Given the description of an element on the screen output the (x, y) to click on. 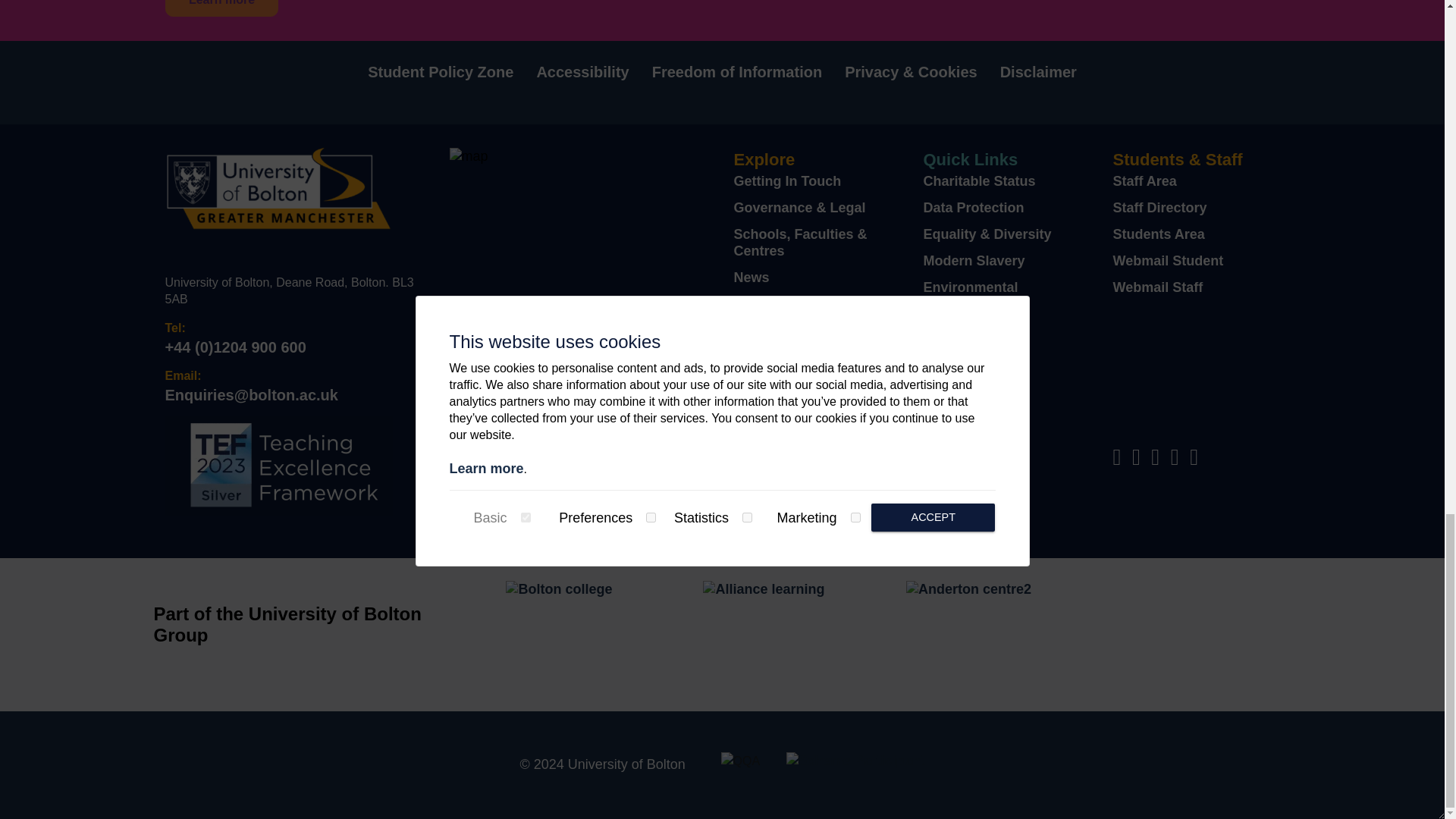
Link to Youtube Page (1197, 459)
Transparency Information (777, 391)
Learn more (222, 8)
Link to LinkedIn Page (1178, 459)
Help Centre (961, 330)
Data Protection (974, 207)
Freedom of Information (737, 71)
Charitable Status (979, 181)
Accessibility (581, 71)
Student Policy Zone (440, 71)
